Given the description of an element on the screen output the (x, y) to click on. 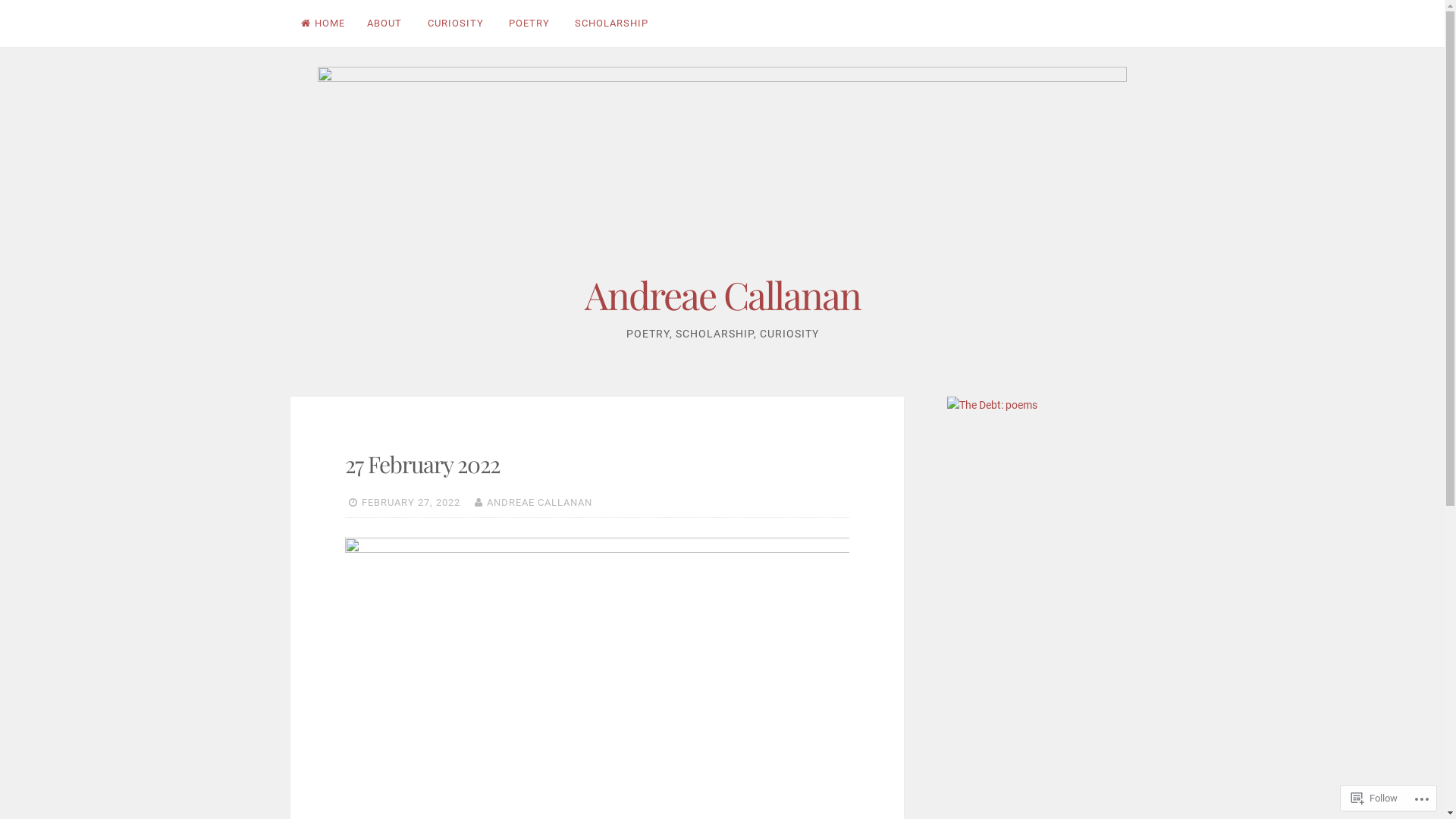
Follow Element type: text (1374, 797)
ANDREAE CALLANAN Element type: text (539, 502)
Andreae Callanan Element type: text (721, 294)
SCHOLARSHIP Element type: text (611, 23)
CURIOSITY Element type: text (455, 23)
ABOUT Element type: text (384, 23)
FEBRUARY 27, 2022 Element type: text (409, 502)
POETRY Element type: text (528, 23)
HOME Element type: text (322, 23)
